Given the description of an element on the screen output the (x, y) to click on. 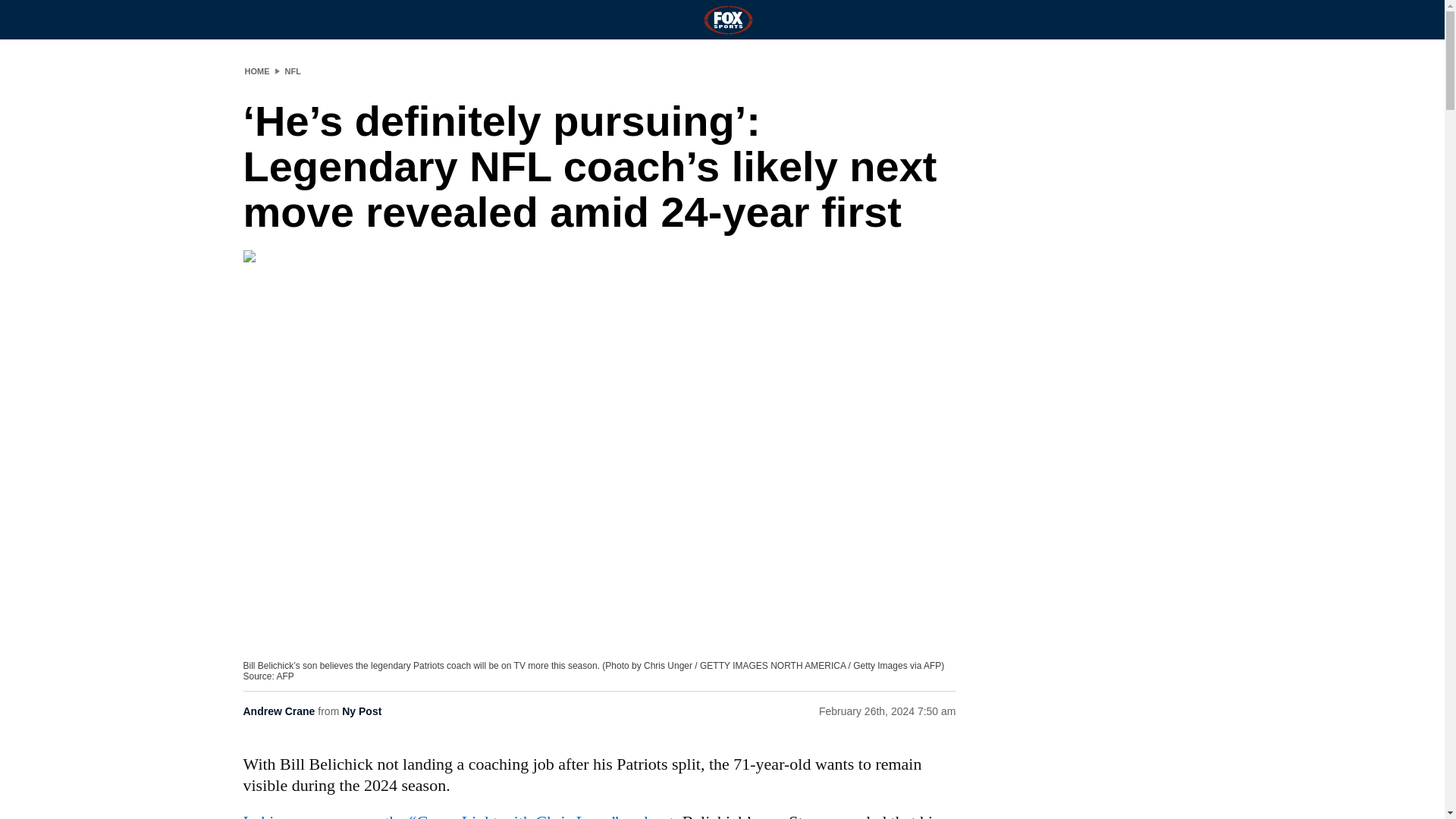
HOME (256, 71)
NFL (292, 71)
